Given the description of an element on the screen output the (x, y) to click on. 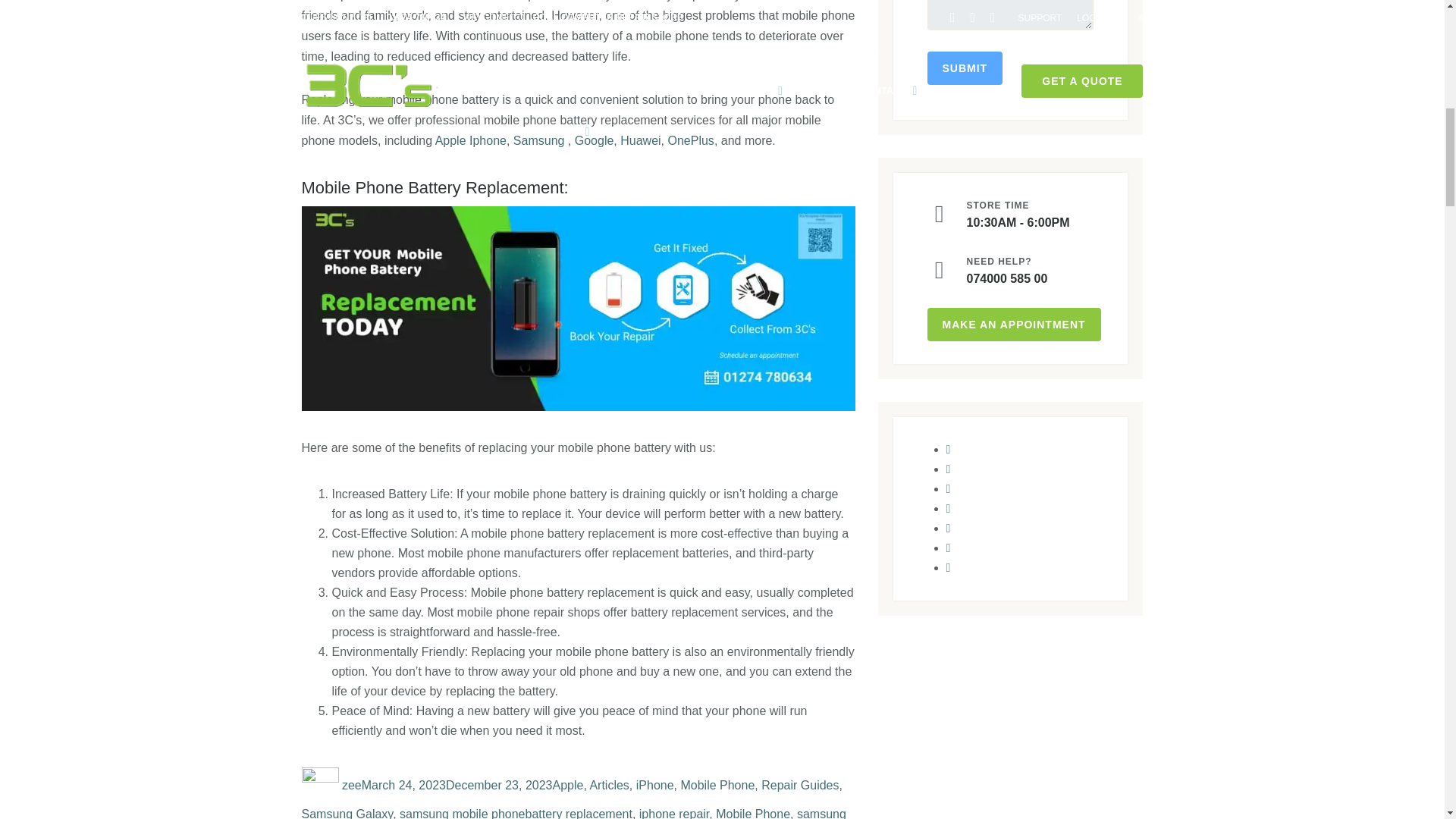
Mobile-Phone-Battery-Replacement (578, 308)
Huawei (640, 140)
Google (591, 140)
Submit (964, 68)
Apple Iphone (470, 140)
OnePlus (689, 140)
Samsung (538, 140)
